Given the description of an element on the screen output the (x, y) to click on. 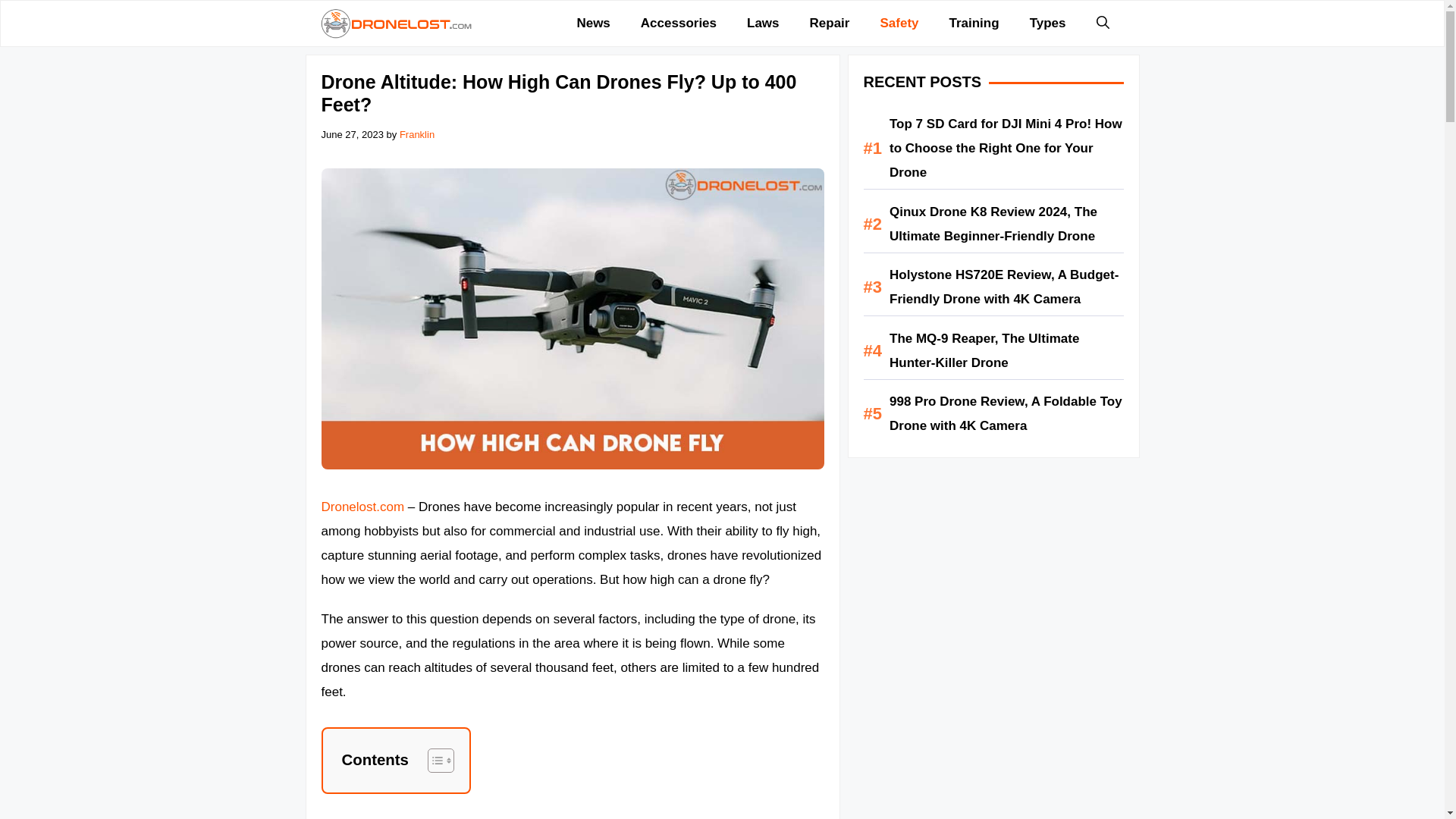
Dronelost.com (395, 22)
Training (974, 22)
Repair (829, 22)
News (592, 22)
Accessories (679, 22)
Franklin (415, 134)
Safety (898, 22)
Dronelost.com (364, 506)
Types (1047, 22)
Laws (763, 22)
